Given the description of an element on the screen output the (x, y) to click on. 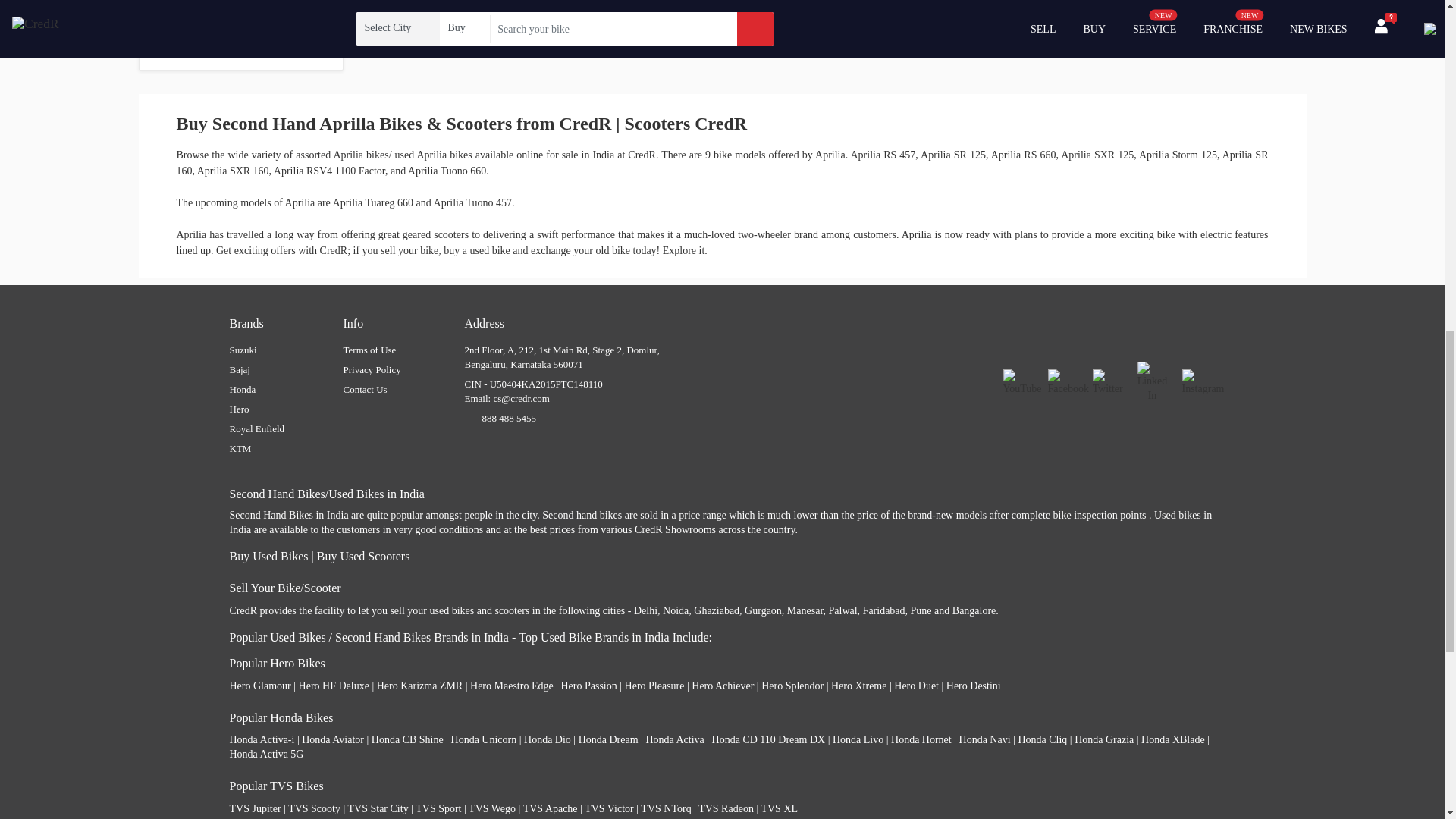
Privacy Policy (371, 369)
Honda (242, 389)
Hero Splendor (792, 685)
Hero Maestro Edge (511, 685)
Hero HF Deluxe (333, 685)
8,000 Kms (172, 29)
Popular Hero Bikes (276, 662)
Buy Used Scooters (363, 555)
Suzuki (242, 349)
Hero Xtreme (858, 685)
Hero Pleasure (654, 685)
75,000 Kms (283, 29)
Terms of Use (369, 349)
Hero Passion (587, 685)
KTM (239, 448)
